Given the description of an element on the screen output the (x, y) to click on. 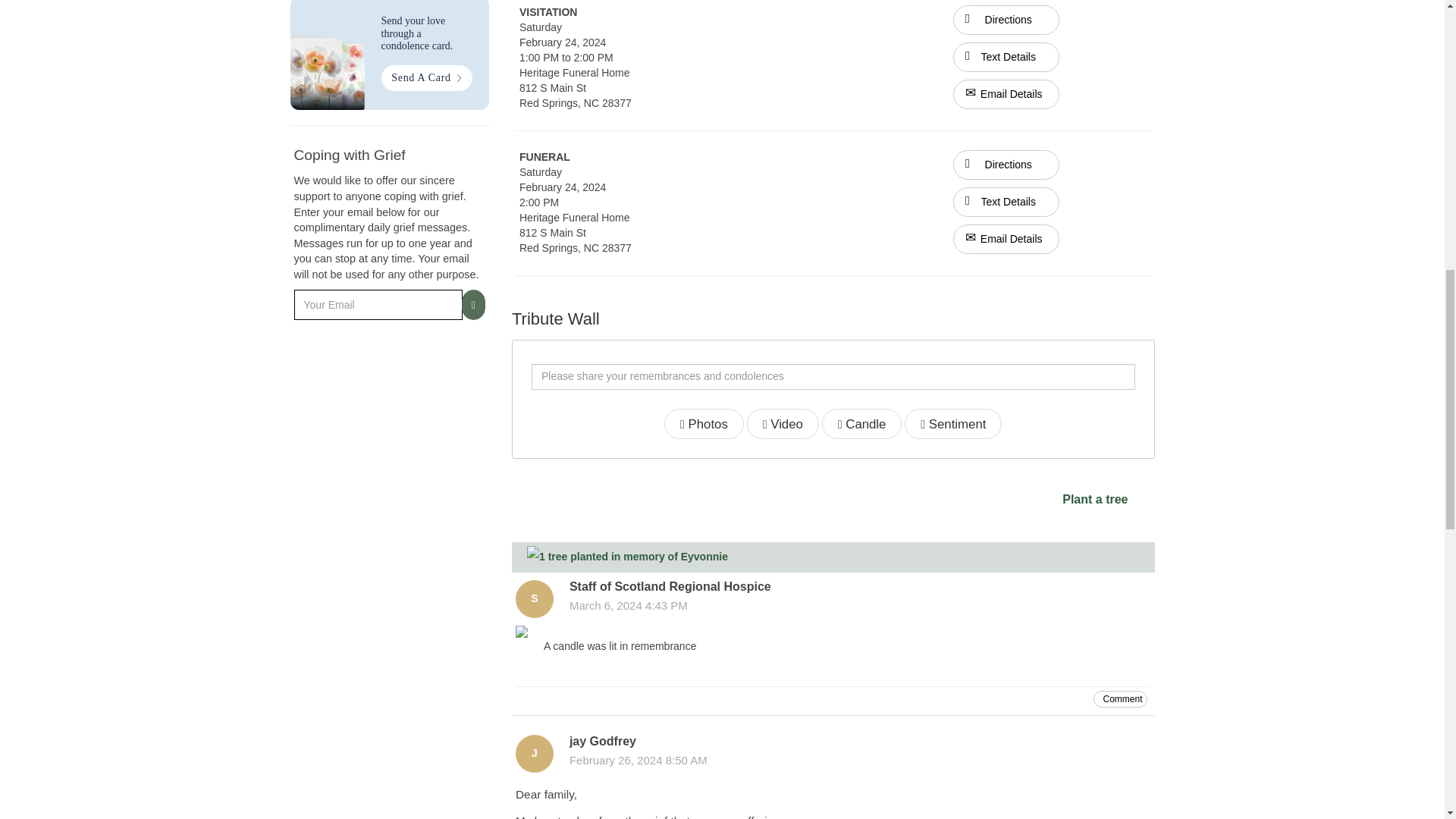
Plant a tree (1095, 499)
Directions (1006, 19)
jay Godfrey (534, 753)
Text Details (1006, 202)
Email Details (1006, 93)
Plant a tree (1095, 499)
Directions (1006, 163)
Directions (1006, 164)
Text Details (1006, 57)
Directions (1006, 19)
Email Details (1006, 238)
  Comment (1120, 699)
Staff of Scotland Regional Hospice (534, 598)
Send A Card (425, 77)
